Given the description of an element on the screen output the (x, y) to click on. 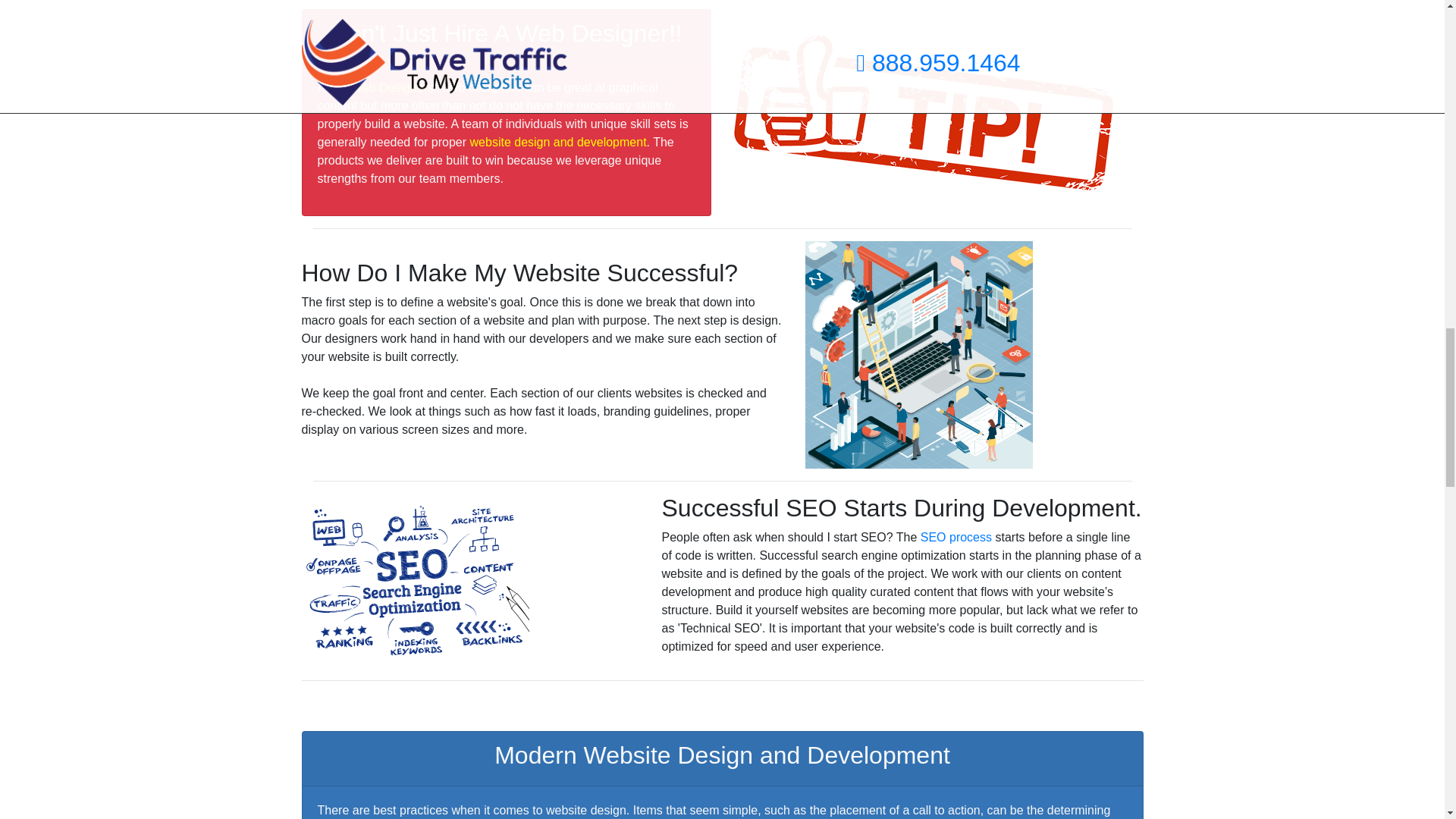
Web Designers (391, 87)
SEO process (955, 536)
website design and development (558, 141)
